Given the description of an element on the screen output the (x, y) to click on. 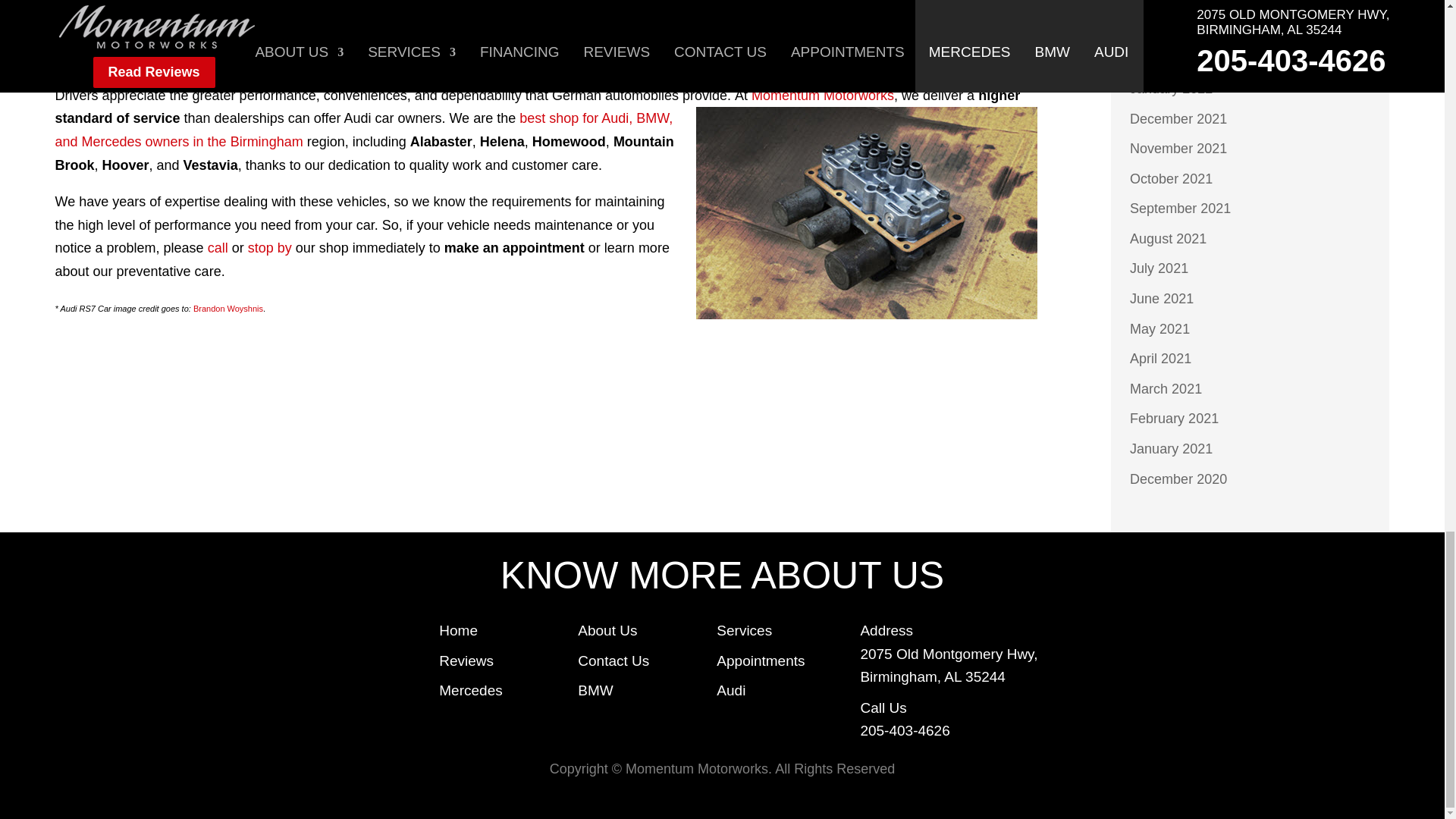
Brandon Woyshnis (228, 307)
stop by (269, 247)
call (218, 247)
Momentum Motorworks (822, 95)
